Given the description of an element on the screen output the (x, y) to click on. 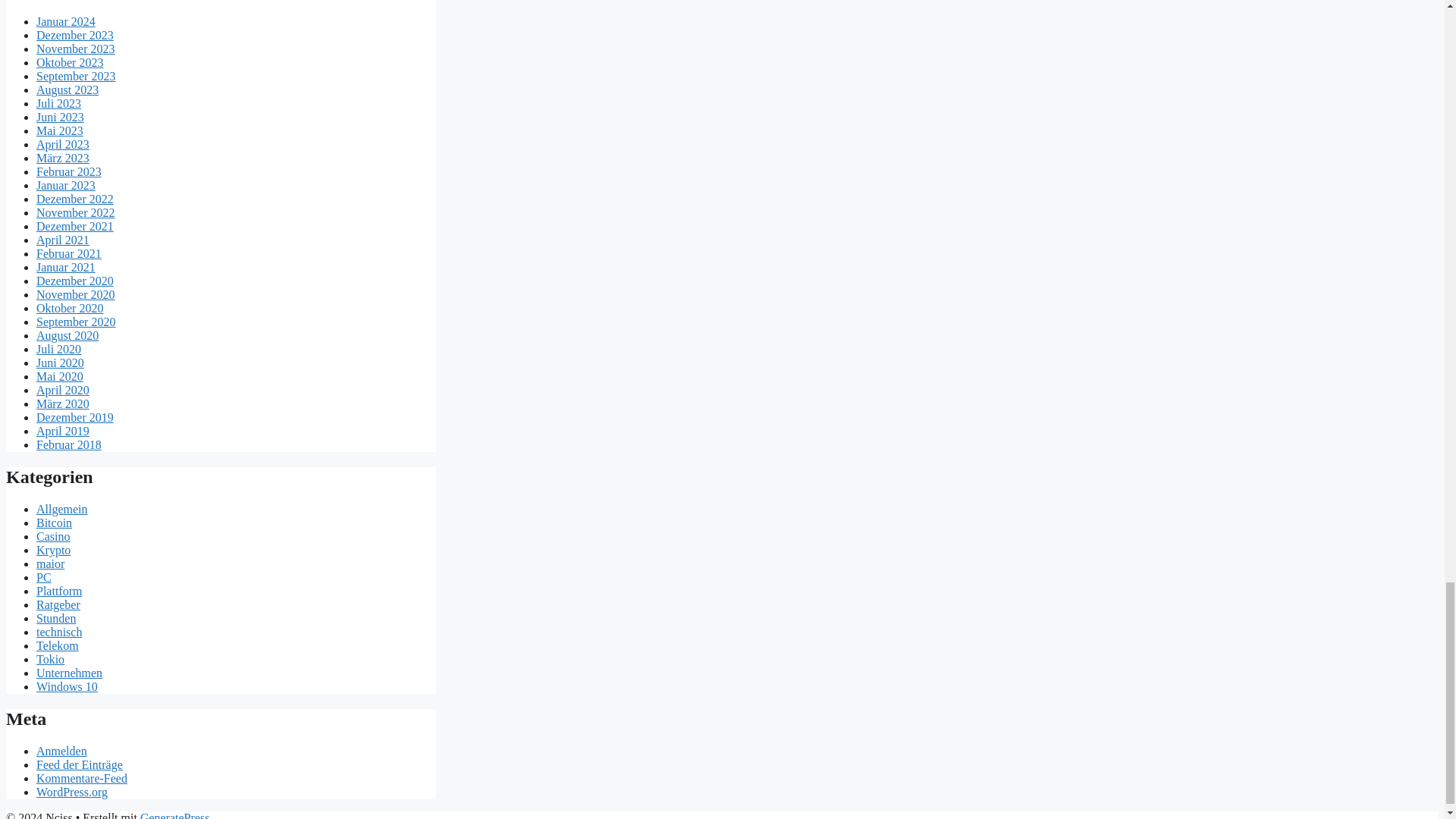
Juli 2023 (58, 103)
Oktober 2020 (69, 308)
Dezember 2023 (74, 34)
April 2021 (62, 239)
September 2023 (75, 75)
November 2020 (75, 294)
November 2022 (75, 212)
Mai 2023 (59, 130)
August 2023 (67, 89)
Februar 2021 (68, 253)
